Given the description of an element on the screen output the (x, y) to click on. 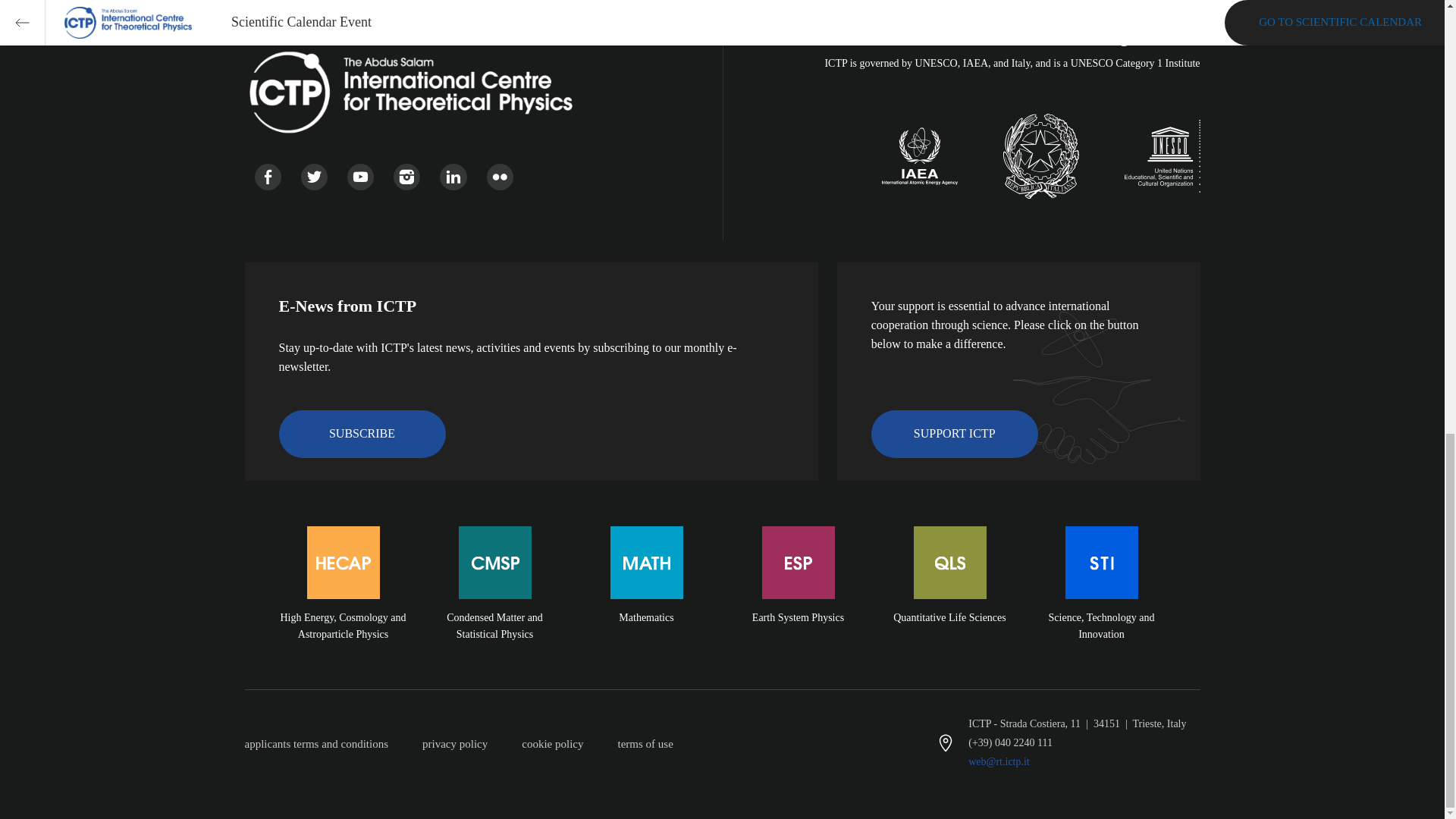
Twitter (314, 176)
Earth System Physics (798, 601)
SUBSCRIBE (362, 433)
Science, Technology and Innovation (1101, 601)
Quantitative Life Sciences (949, 601)
Facebook (267, 176)
Mathematics (646, 601)
Flickr (499, 176)
Condensed Matter and Statistical Physics (494, 601)
SUPPORT ICTP (954, 433)
Linkedin (452, 176)
Instagram (406, 176)
Youtube (360, 176)
High Energy, Cosmology and Astroparticle Physics (343, 601)
